Given the description of an element on the screen output the (x, y) to click on. 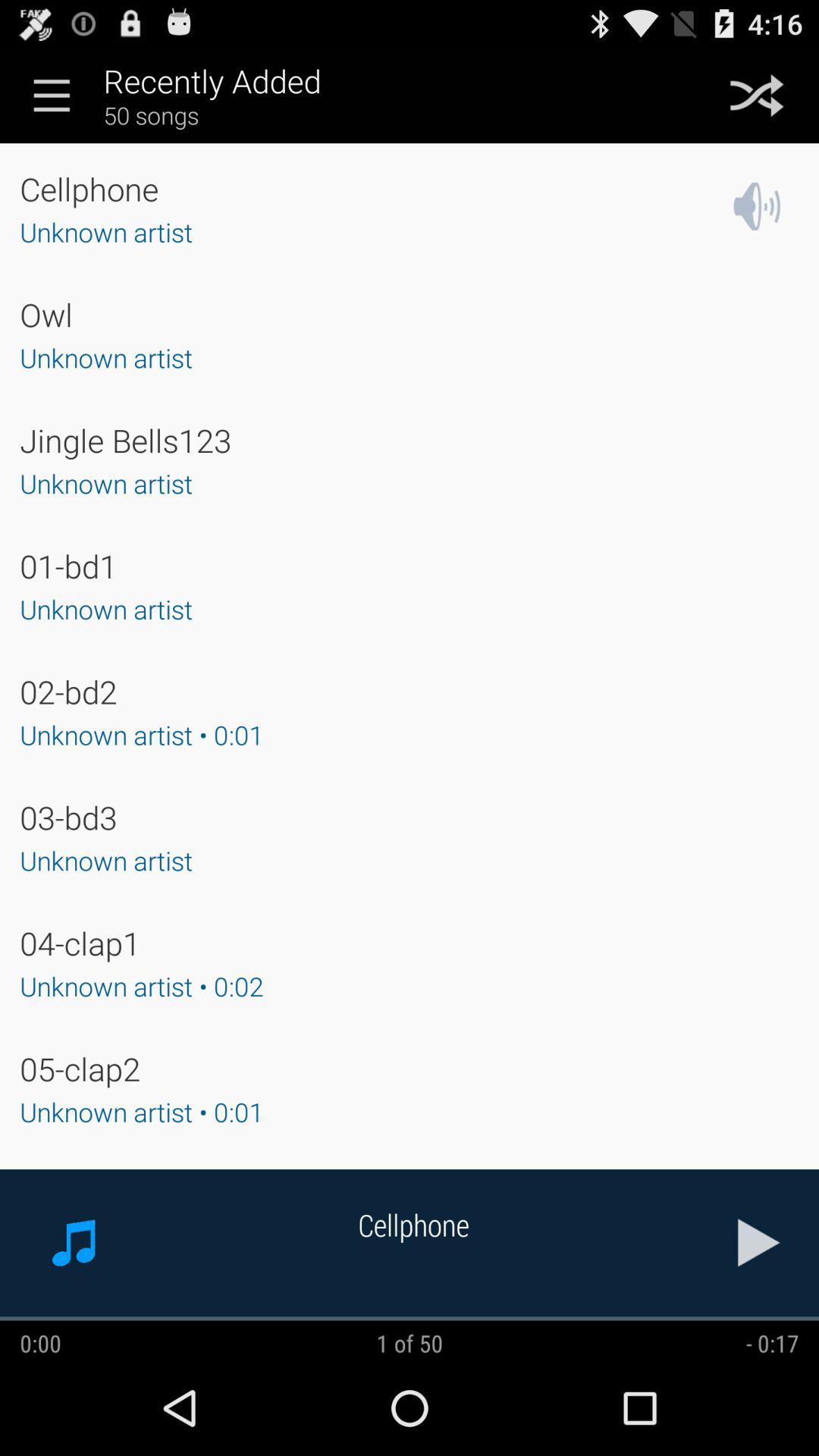
jump until 02-bd2 app (68, 691)
